Given the description of an element on the screen output the (x, y) to click on. 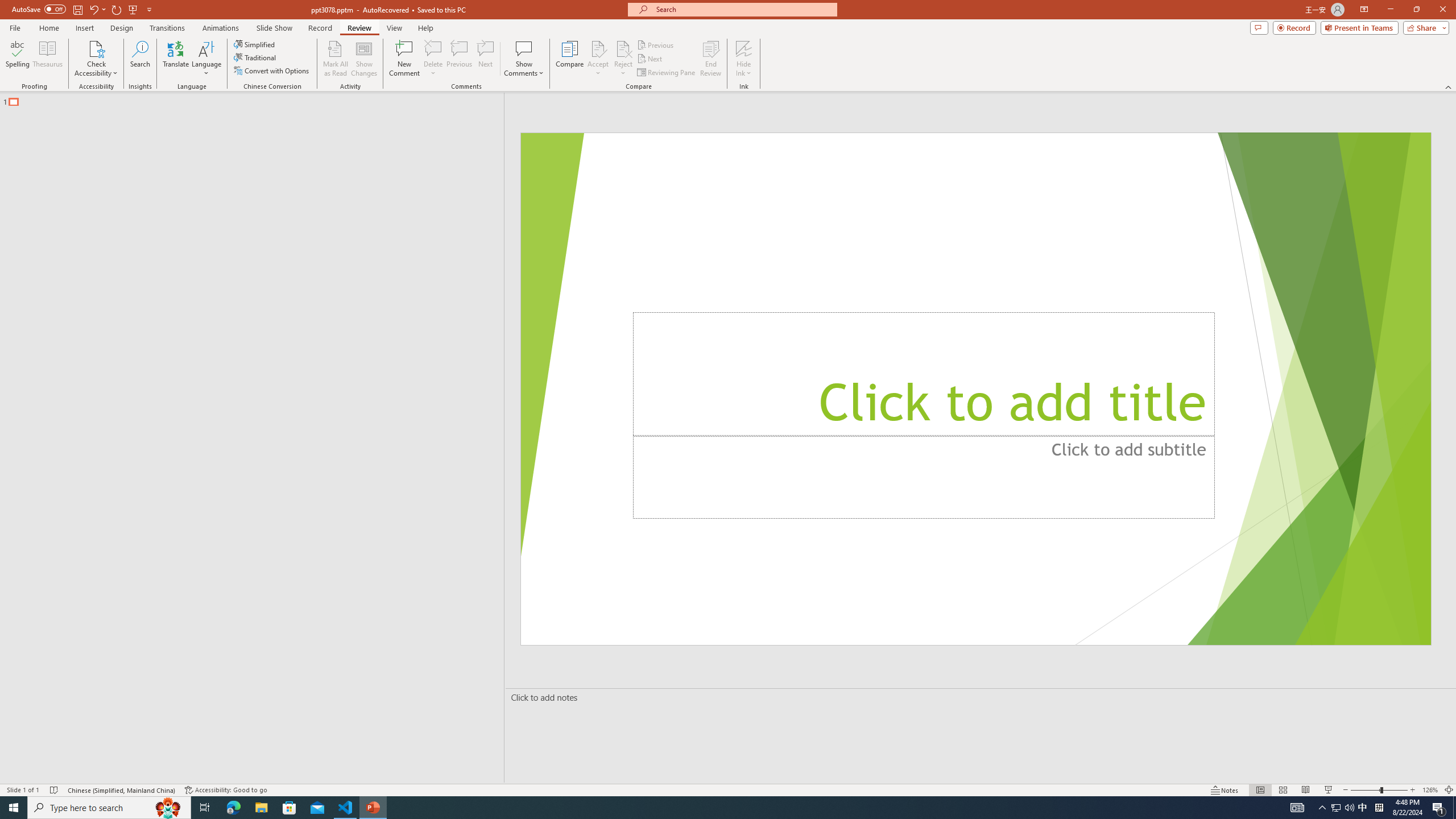
Convert with Options... (272, 69)
